Given the description of an element on the screen output the (x, y) to click on. 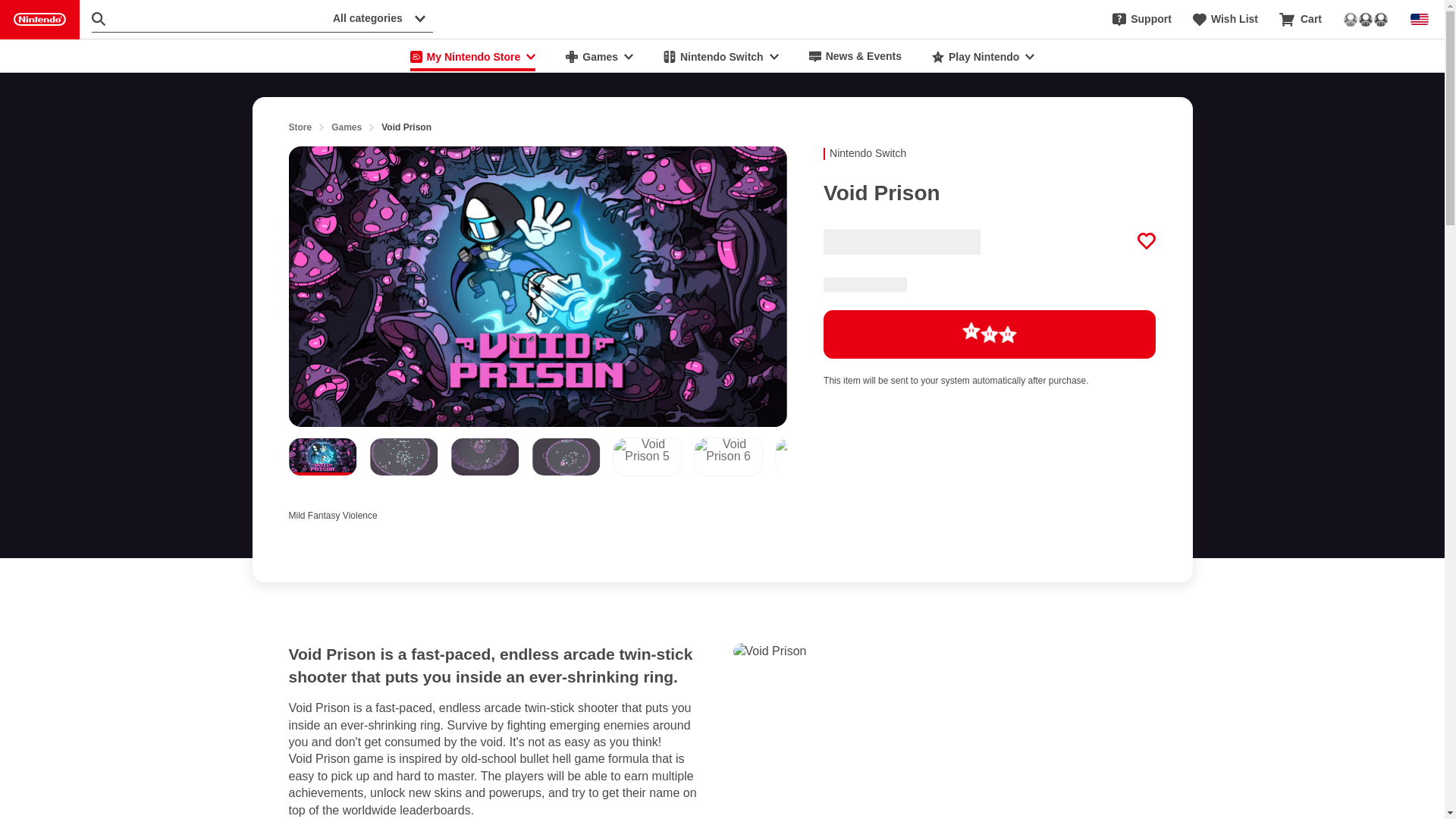
Support (1142, 19)
Cart (1300, 19)
Play Nintendo (983, 56)
Add to Wish List (1146, 240)
Store (299, 127)
Nintendo (40, 19)
Wish List (1224, 19)
Games (599, 56)
Nintendo Switch (720, 56)
Loading (990, 334)
